Given the description of an element on the screen output the (x, y) to click on. 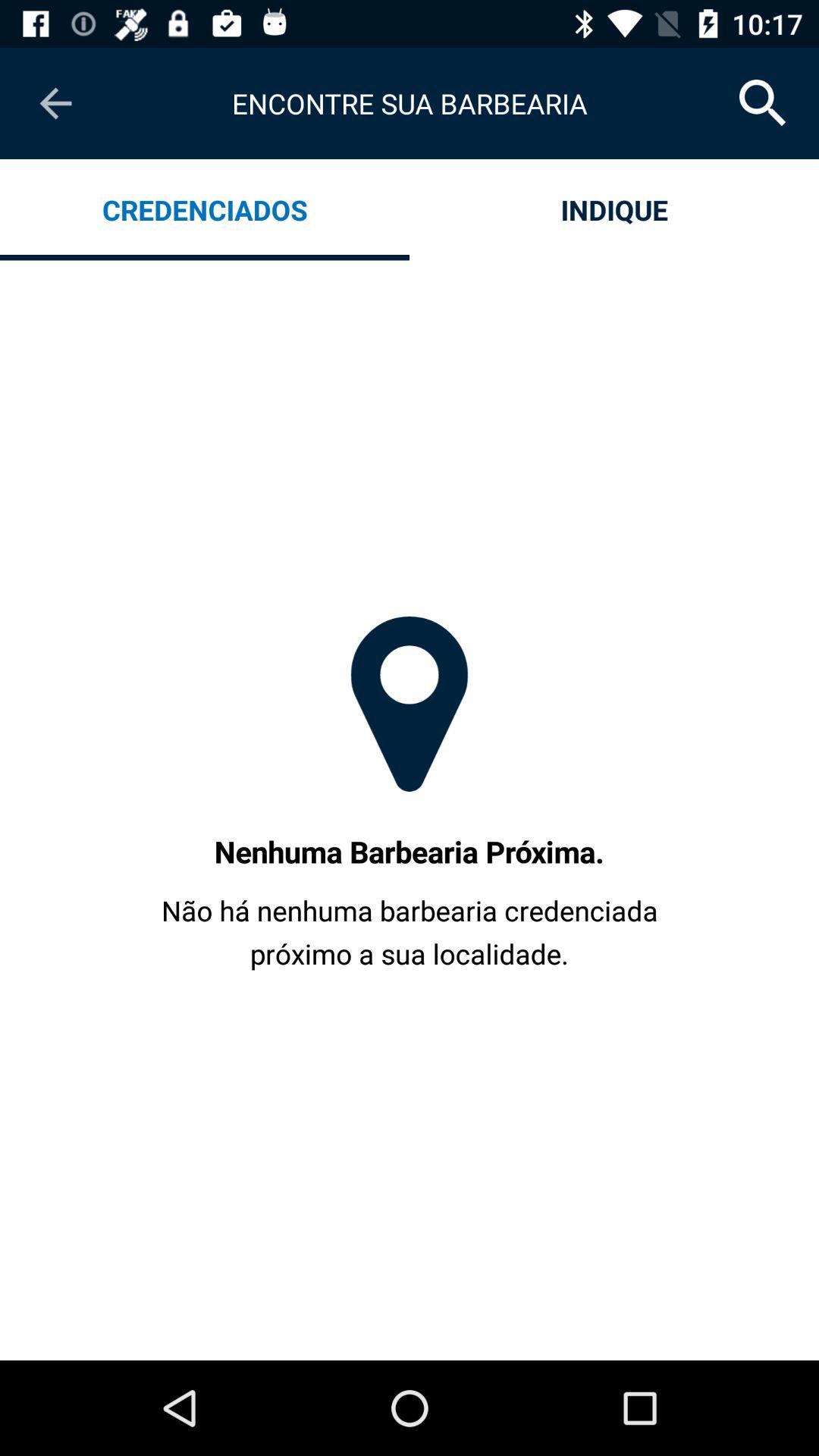
open indique item (614, 209)
